Given the description of an element on the screen output the (x, y) to click on. 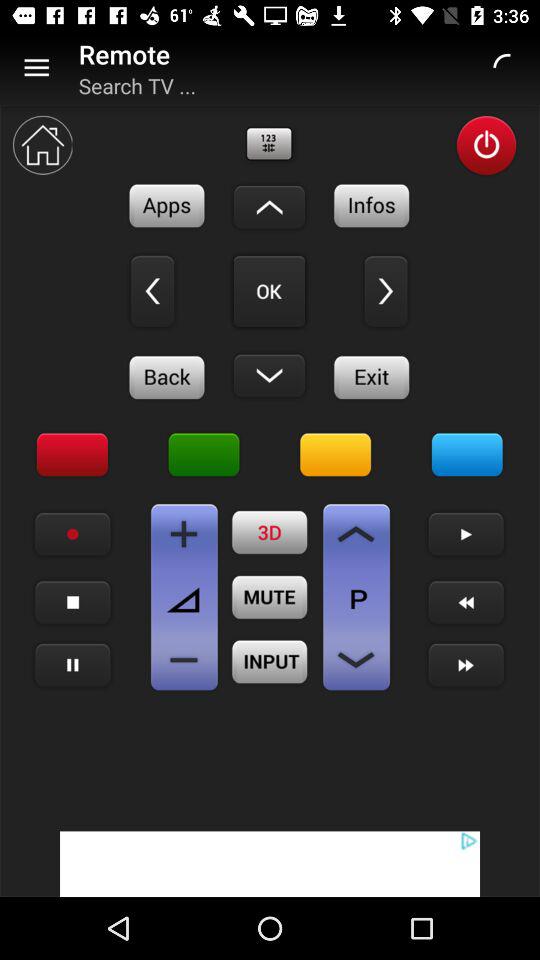
decrease an option (356, 660)
